Given the description of an element on the screen output the (x, y) to click on. 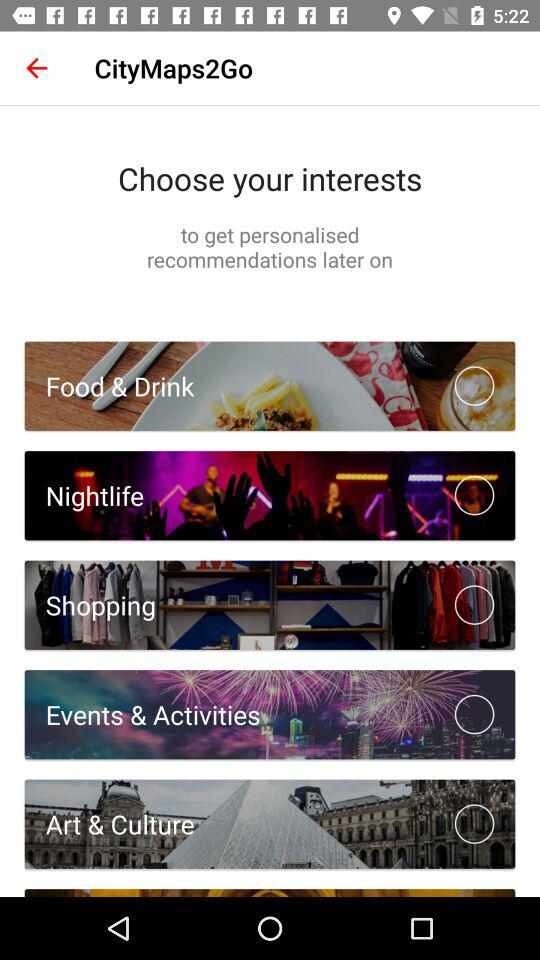
tap item to the left of the citymaps2go icon (36, 68)
